Given the description of an element on the screen output the (x, y) to click on. 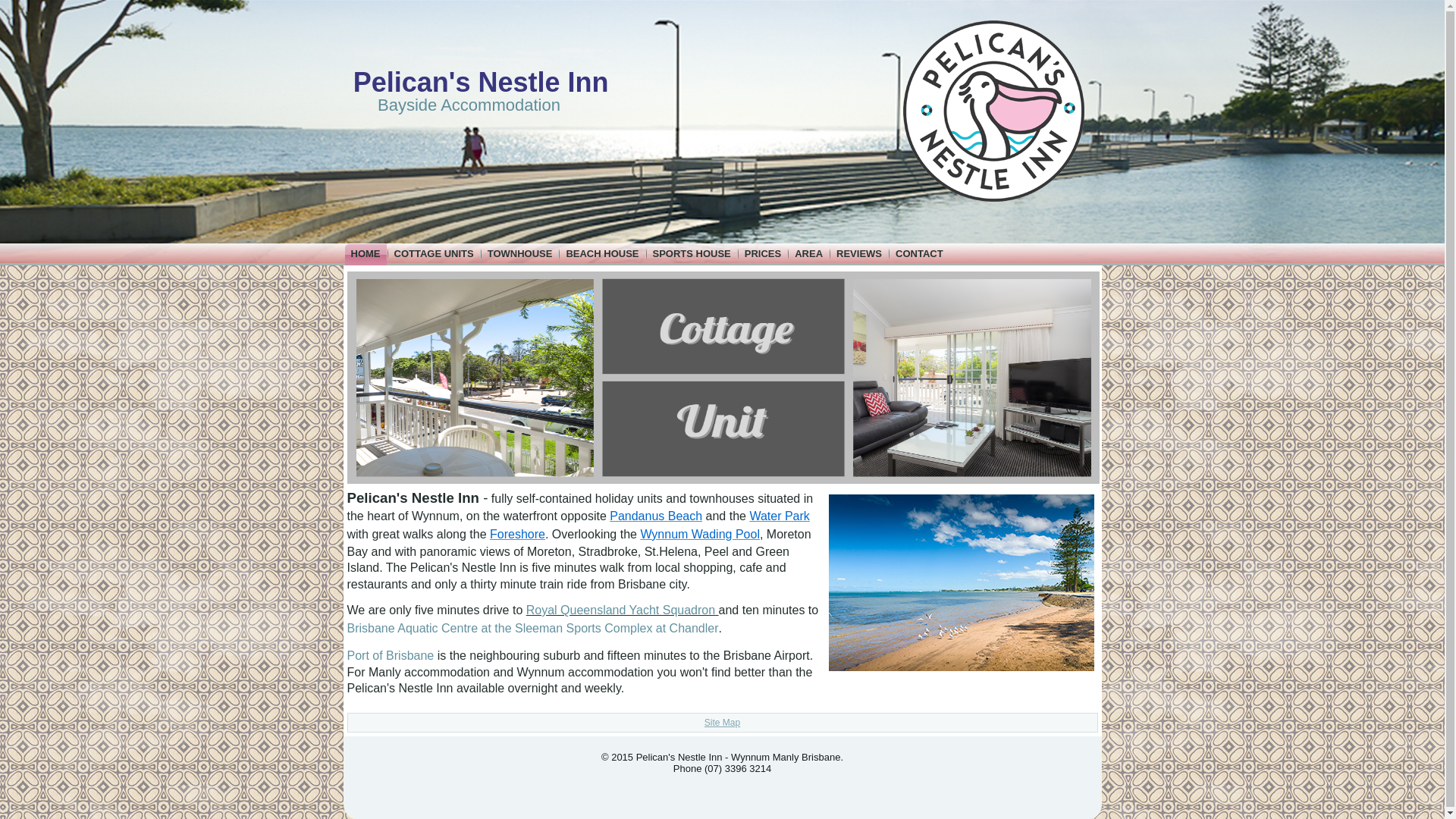
Site Map (721, 722)
Wynnum Wading Pool (700, 533)
COTTAGE UNITS (434, 253)
SPORTS HOUSE (691, 253)
Port of Brisbane (390, 655)
Water Park (779, 515)
BEACH HOUSE (602, 253)
Pelican's Nestle Inn (480, 81)
HOME (364, 254)
REVIEWS (858, 253)
AREA (808, 253)
PRICES (762, 253)
Royal Queensland Yacht Squadron (619, 609)
Foreshore (516, 533)
